Given the description of an element on the screen output the (x, y) to click on. 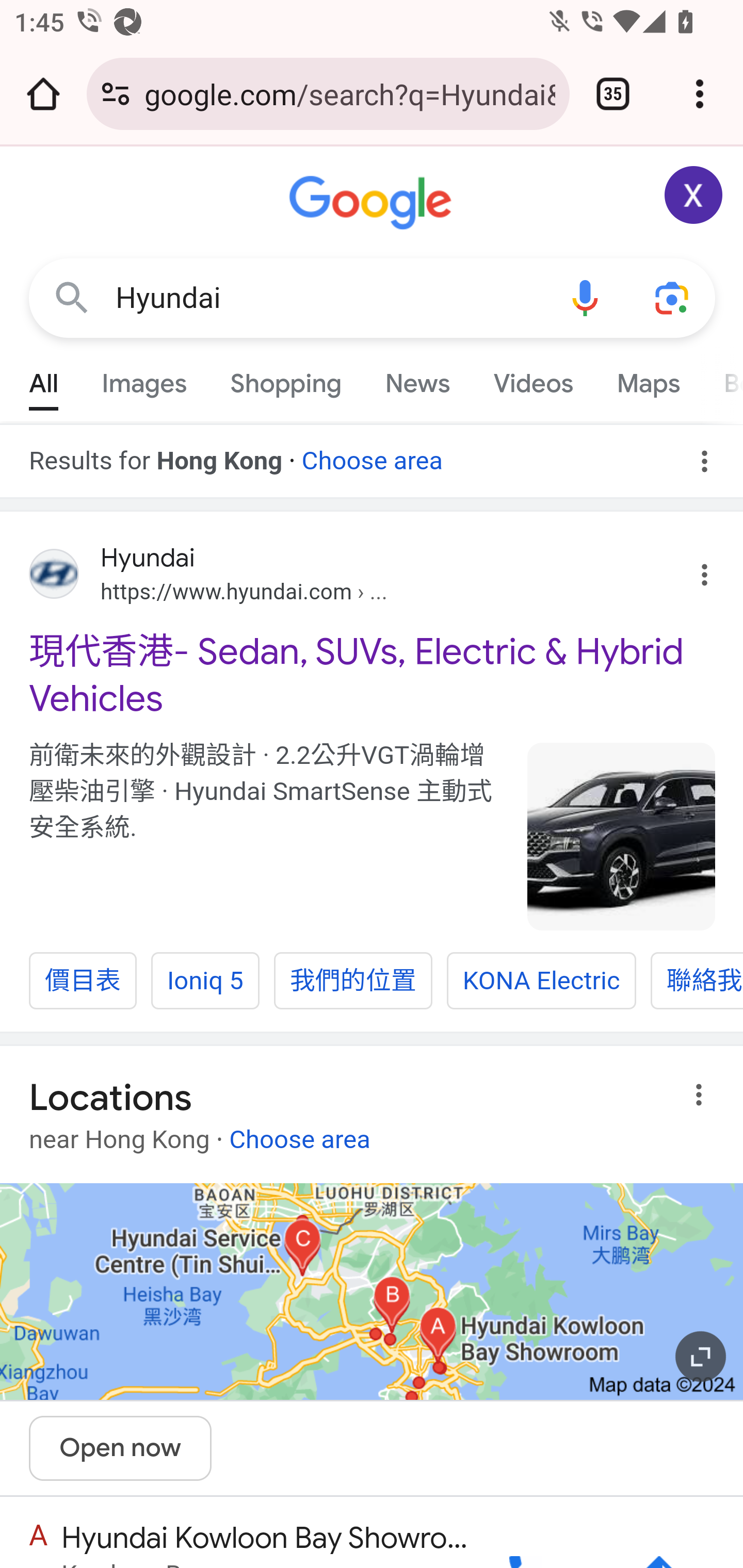
Open the home page (43, 93)
Connection is secure (115, 93)
Switch or close tabs (612, 93)
Customize and control Google Chrome (699, 93)
Google (372, 203)
Google Account: Xiaoran (zxrappiumtest@gmail.com) (694, 195)
Google Search (71, 296)
Search using your camera or photos (672, 296)
Hyundai (328, 297)
Images (144, 378)
Shopping (285, 378)
News (417, 378)
Videos (533, 378)
Maps (647, 378)
Choose area (371, 453)
現代香港- Sedan, SUVs, Electric & Hybrid Vehicles (372, 674)
zh (621, 836)
價目表 (82, 981)
Ioniq 5 (204, 981)
我們的位置 (352, 981)
KONA Electric (541, 981)
聯絡我們 (696, 981)
About this result (702, 1095)
Choose area (299, 1132)
Map of Hyundai (371, 1291)
Open now (120, 1447)
